Given the description of an element on the screen output the (x, y) to click on. 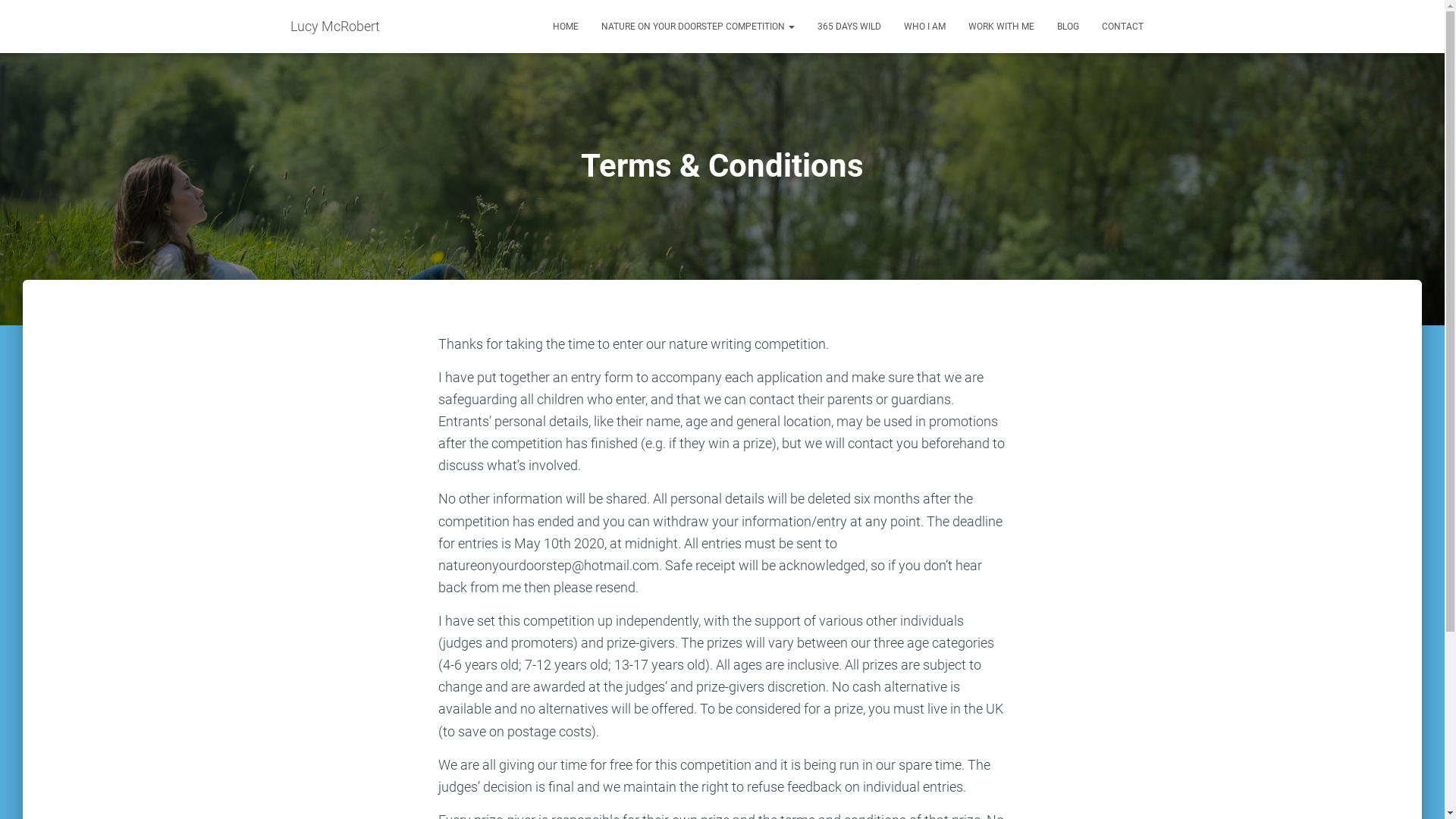
WHO I AM Element type: text (923, 26)
WORK WITH ME Element type: text (1001, 26)
365 DAYS WILD Element type: text (848, 26)
Lucy McRobert Element type: text (335, 26)
HOME Element type: text (565, 26)
CONTACT Element type: text (1122, 26)
NATURE ON YOUR DOORSTEP COMPETITION Element type: text (697, 26)
BLOG Element type: text (1066, 26)
